Given the description of an element on the screen output the (x, y) to click on. 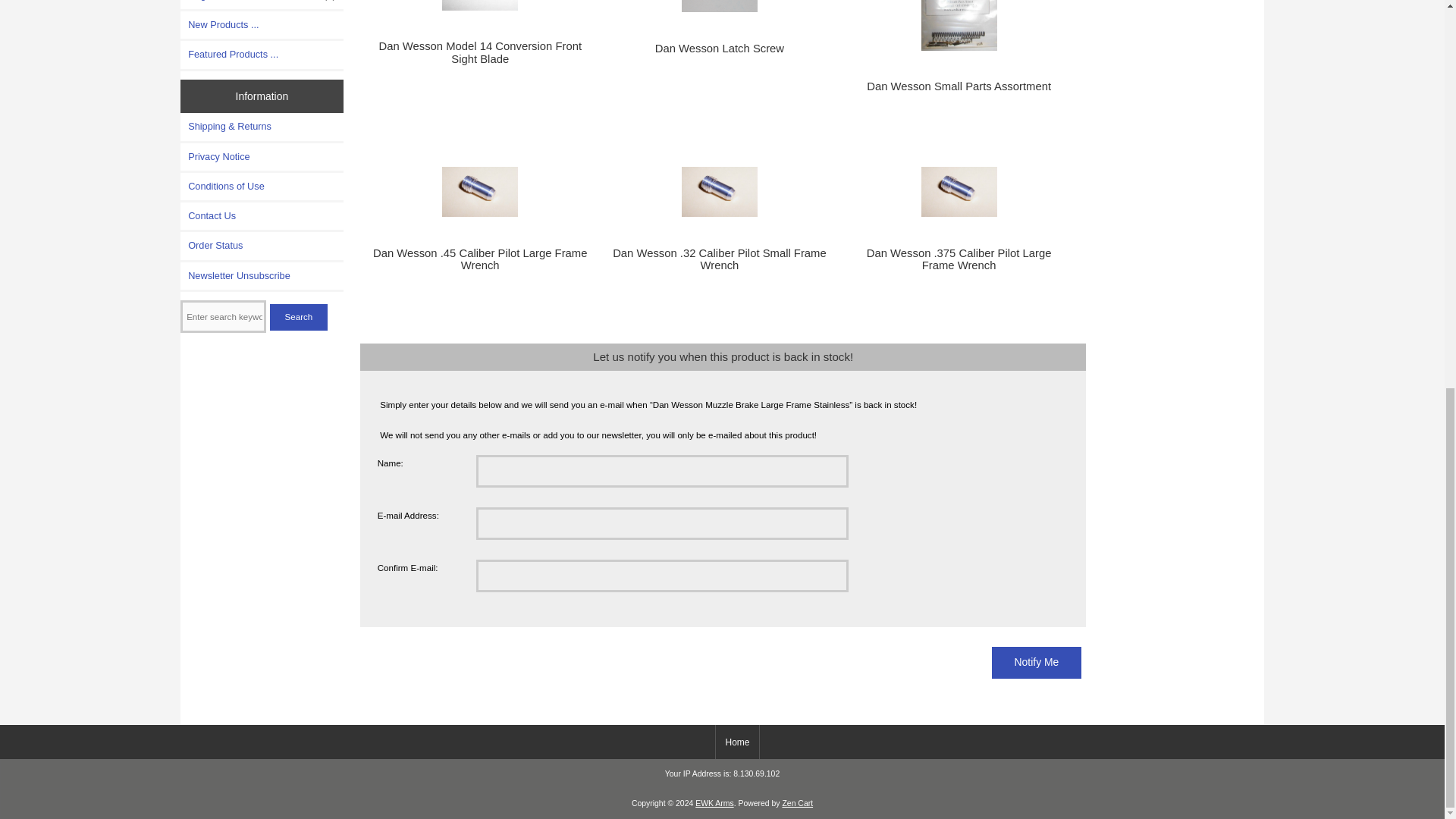
Dan Wesson Small Parts Assortment (959, 25)
Order Status (261, 245)
New Products ... (261, 24)
Dan Wesson .375 Caliber Pilot Large Frame Wrench (959, 192)
Dan Wesson Latch Screw (719, 6)
Dan Wesson Model 14 Conversion Front Sight Blade (480, 5)
Search (299, 316)
Search (299, 316)
Notify Me (1036, 662)
Search (299, 316)
Contact Us (261, 216)
Conditions of Use (261, 185)
Featured Products ... (261, 53)
Dan Wesson .45 Caliber Pilot Large Frame Wrench (480, 192)
Dan Wesson .32 Caliber Pilot Small Frame Wrench (719, 192)
